Given the description of an element on the screen output the (x, y) to click on. 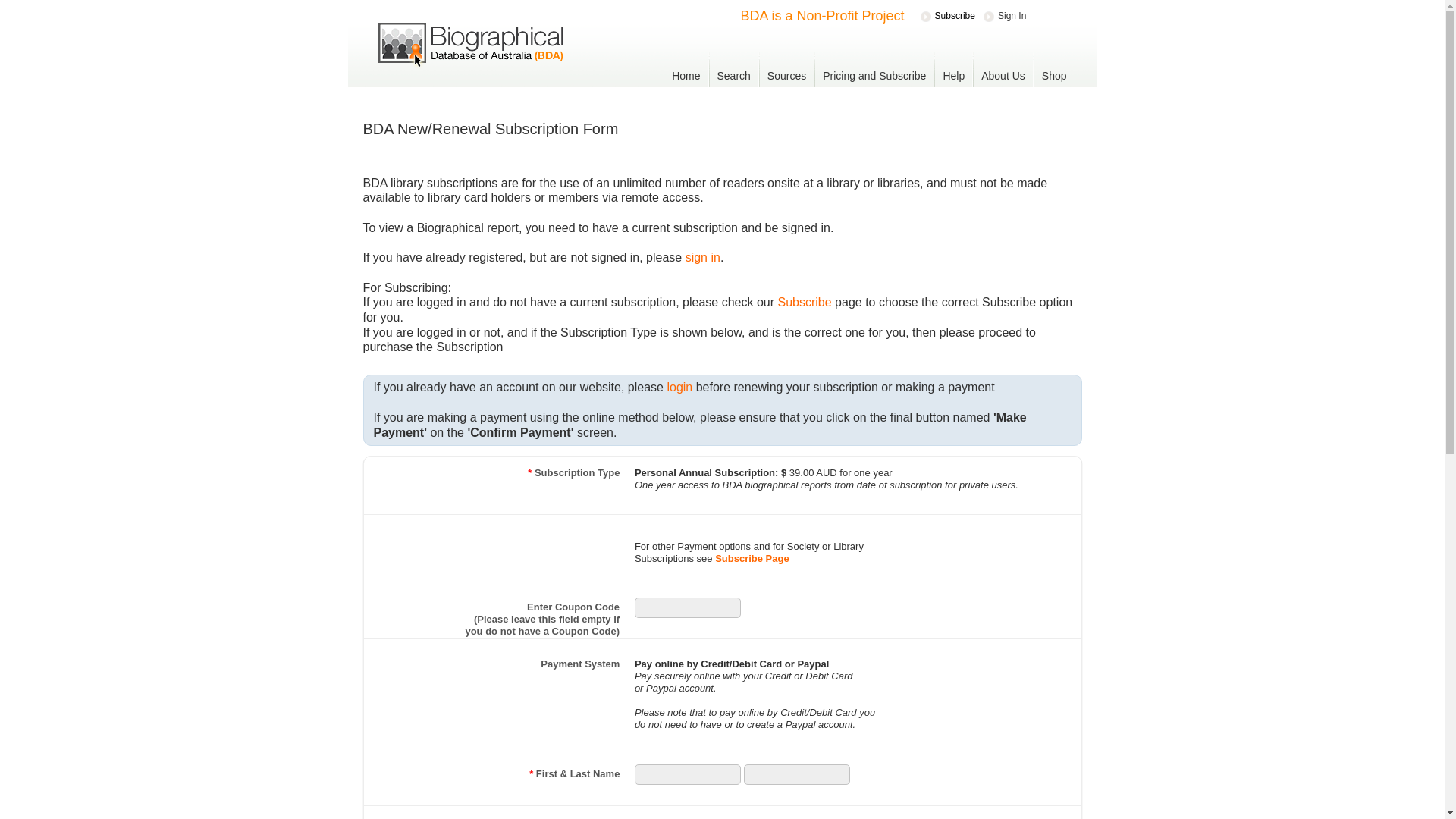
Subscribe Page Element type: text (752, 558)
login Element type: text (679, 387)
Shop Element type: text (1053, 75)
Biographical Database of Australia Element type: hover (469, 46)
Sources Element type: text (786, 75)
Help Element type: text (953, 75)
Pricing and Subscribe Element type: text (873, 75)
About Us Element type: text (1003, 75)
Home Element type: text (685, 75)
Sign In Element type: text (1004, 15)
sign in Element type: text (702, 257)
Subscribe Element type: text (804, 301)
Search Element type: text (733, 75)
